Given the description of an element on the screen output the (x, y) to click on. 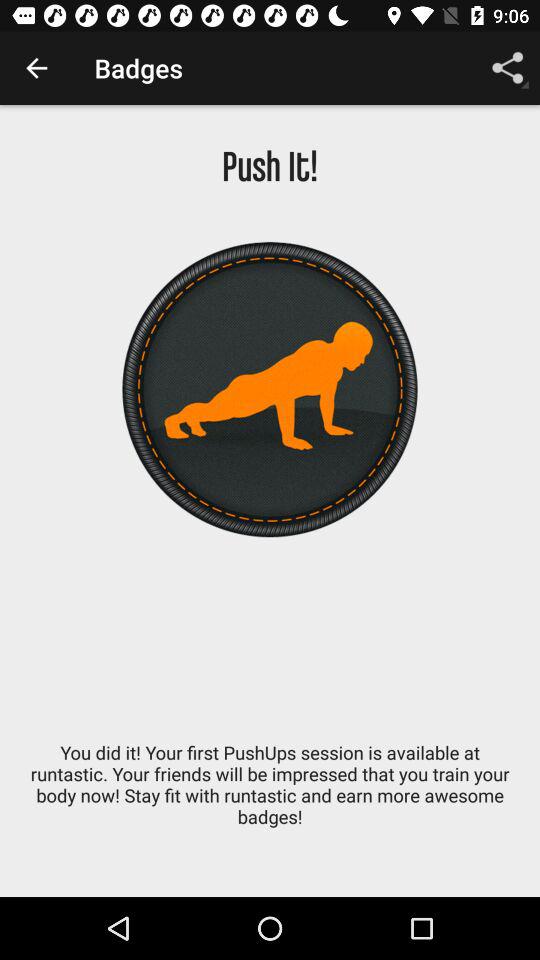
click item above push it! icon (508, 67)
